Given the description of an element on the screen output the (x, y) to click on. 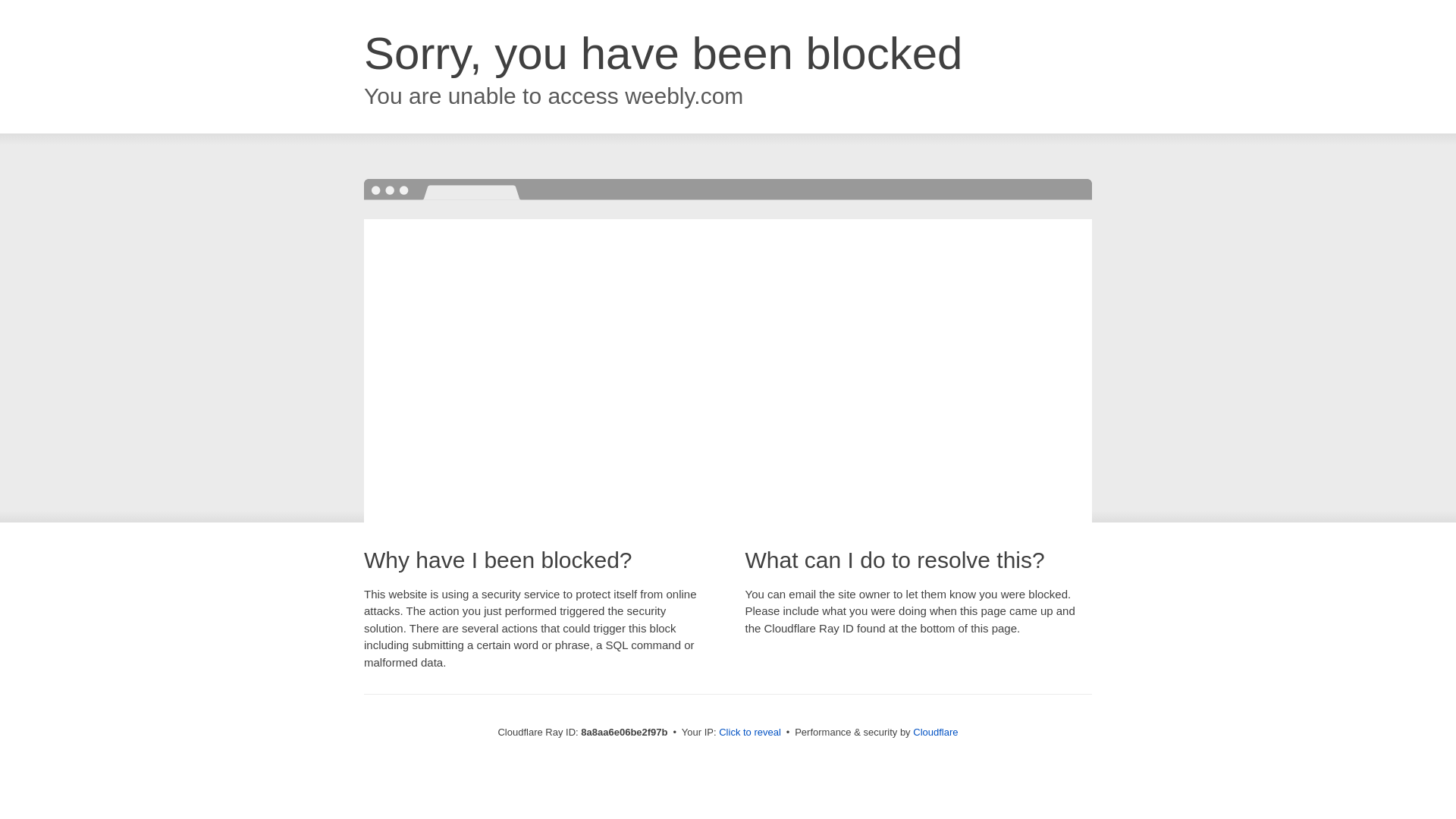
Click to reveal (749, 732)
Cloudflare (935, 731)
